Given the description of an element on the screen output the (x, y) to click on. 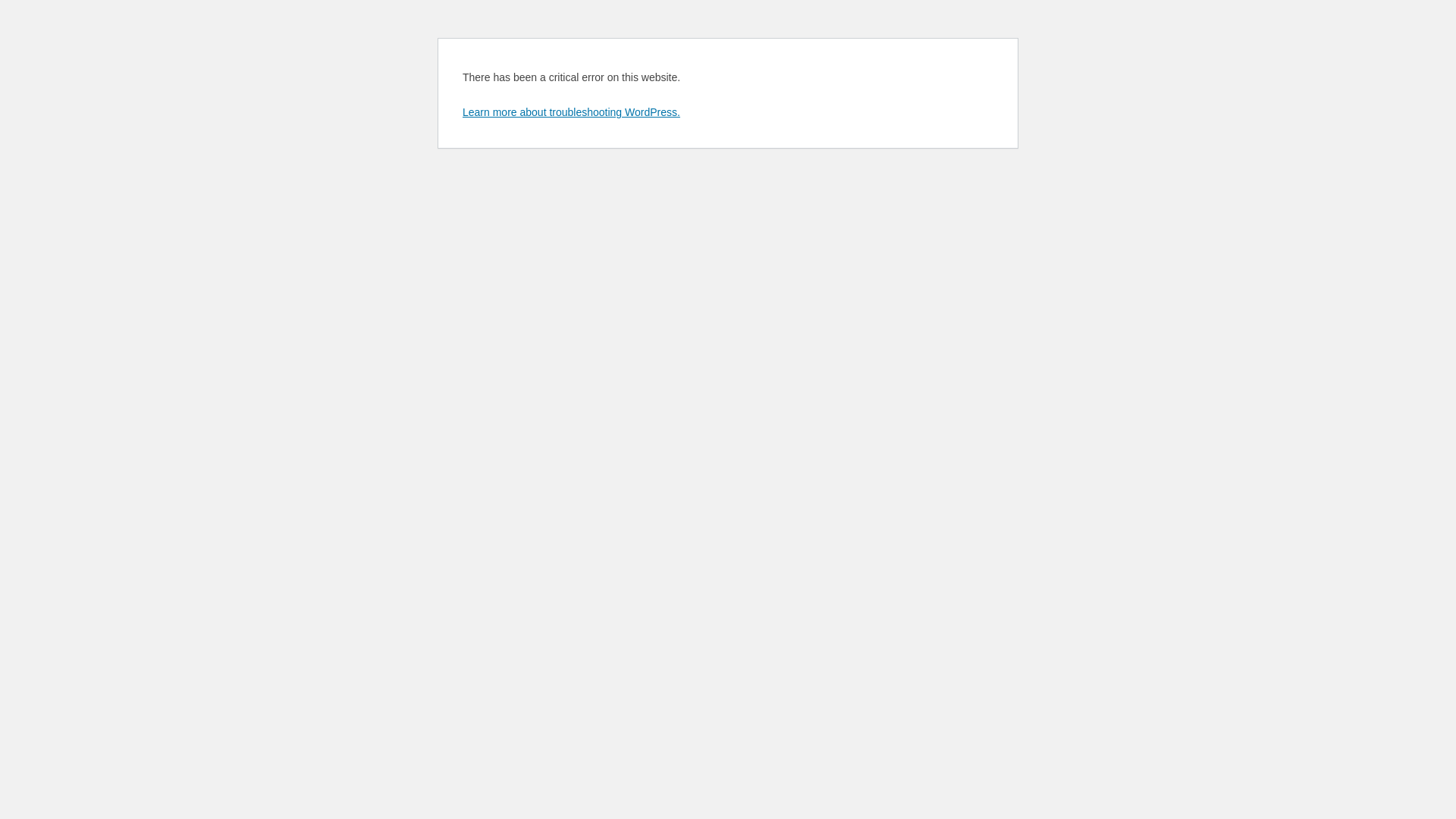
Learn more about troubleshooting WordPress. Element type: text (571, 112)
